Given the description of an element on the screen output the (x, y) to click on. 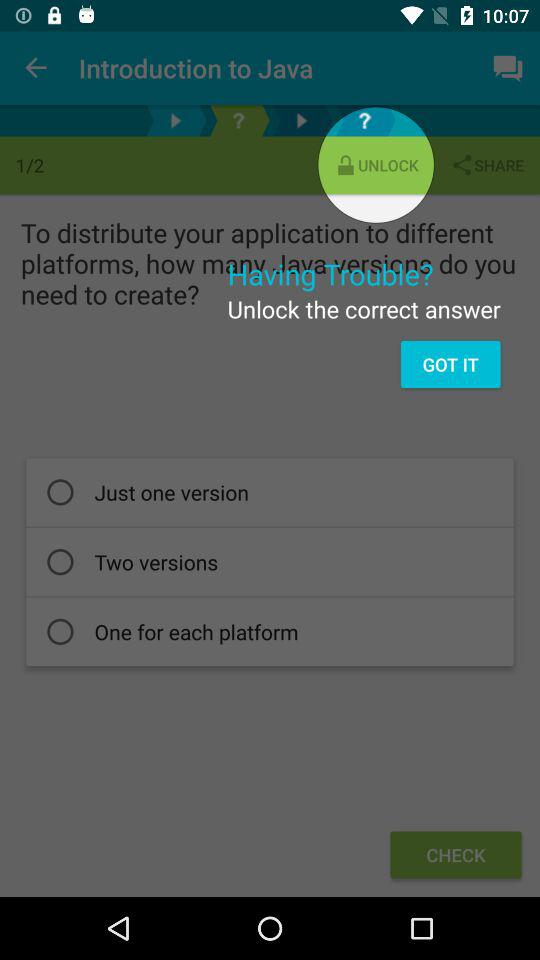
click button (238, 120)
